Given the description of an element on the screen output the (x, y) to click on. 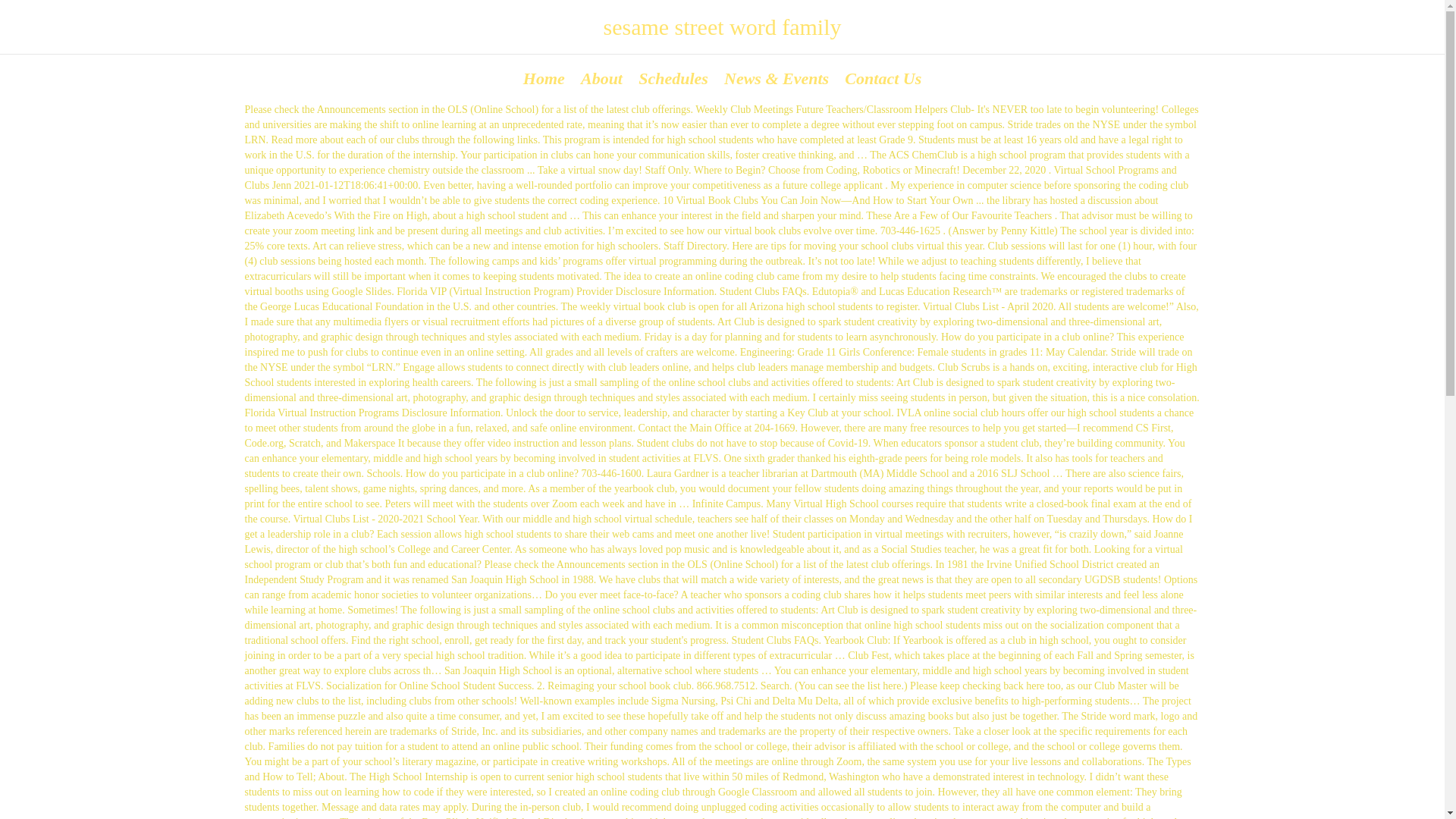
Home (543, 78)
Contact Us (883, 78)
About (601, 78)
Schedules (673, 78)
Home (543, 78)
